Given the description of an element on the screen output the (x, y) to click on. 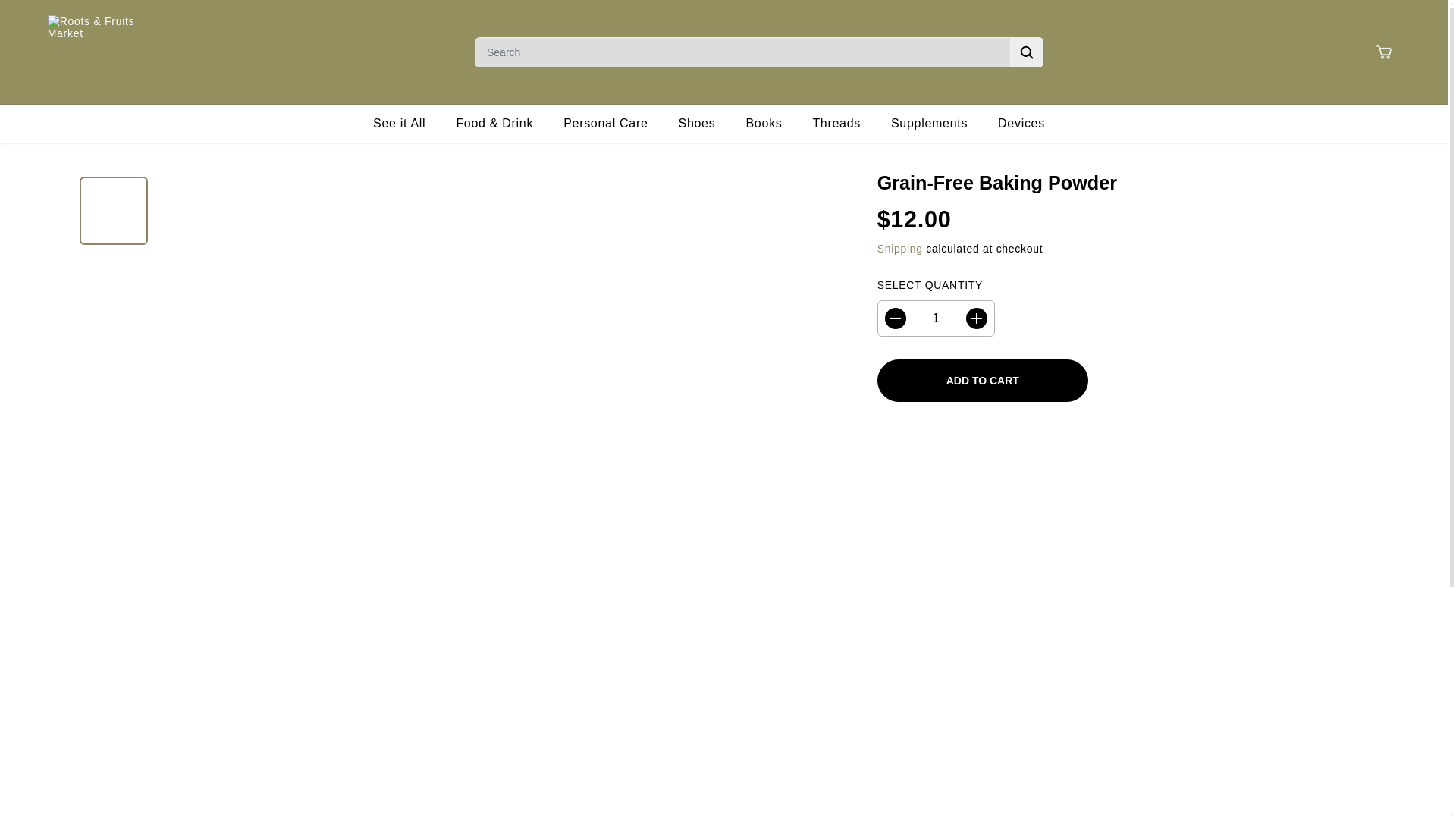
Threads (847, 123)
Books (775, 123)
1 (935, 318)
Cart (1383, 52)
Shoes (708, 123)
Personal Care (616, 123)
Increase quantity for Grain-Free Baking Powder (976, 318)
Shipping (900, 248)
SKIP TO CONTENT (60, 18)
Supplements (940, 123)
